Given the description of an element on the screen output the (x, y) to click on. 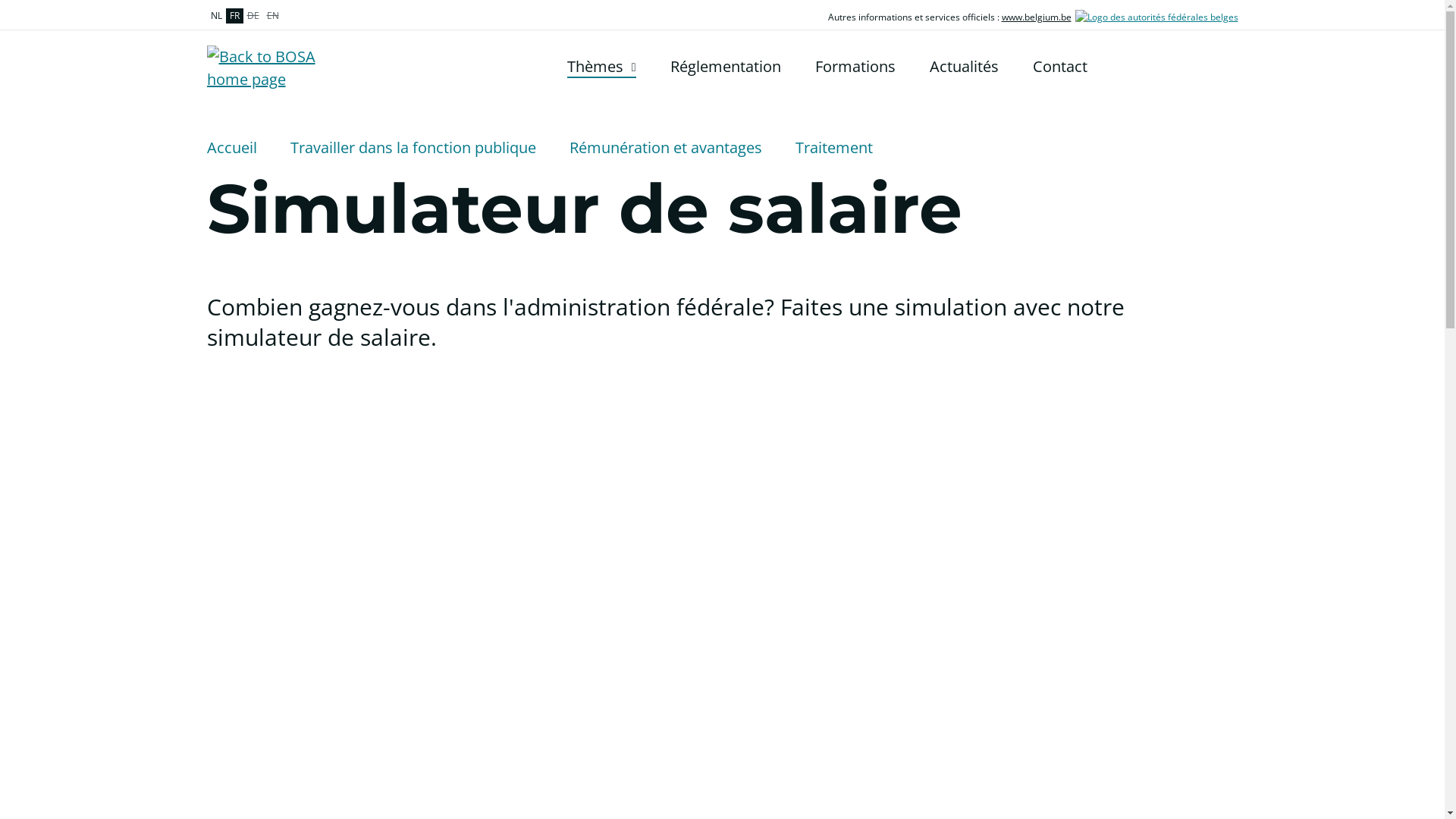
Appliquer Element type: text (1228, 66)
Accueil Element type: text (231, 147)
Back to BOSA home page Element type: hover (269, 68)
NL Element type: text (215, 15)
www.belgium.be Element type: text (1035, 16)
Aller au contenu principal Element type: text (7, 4)
Formations Element type: text (854, 66)
Travailler dans la fonction publique Element type: text (412, 147)
Traitement Element type: text (833, 147)
FR Element type: text (234, 15)
Contact Element type: text (1059, 66)
